Given the description of an element on the screen output the (x, y) to click on. 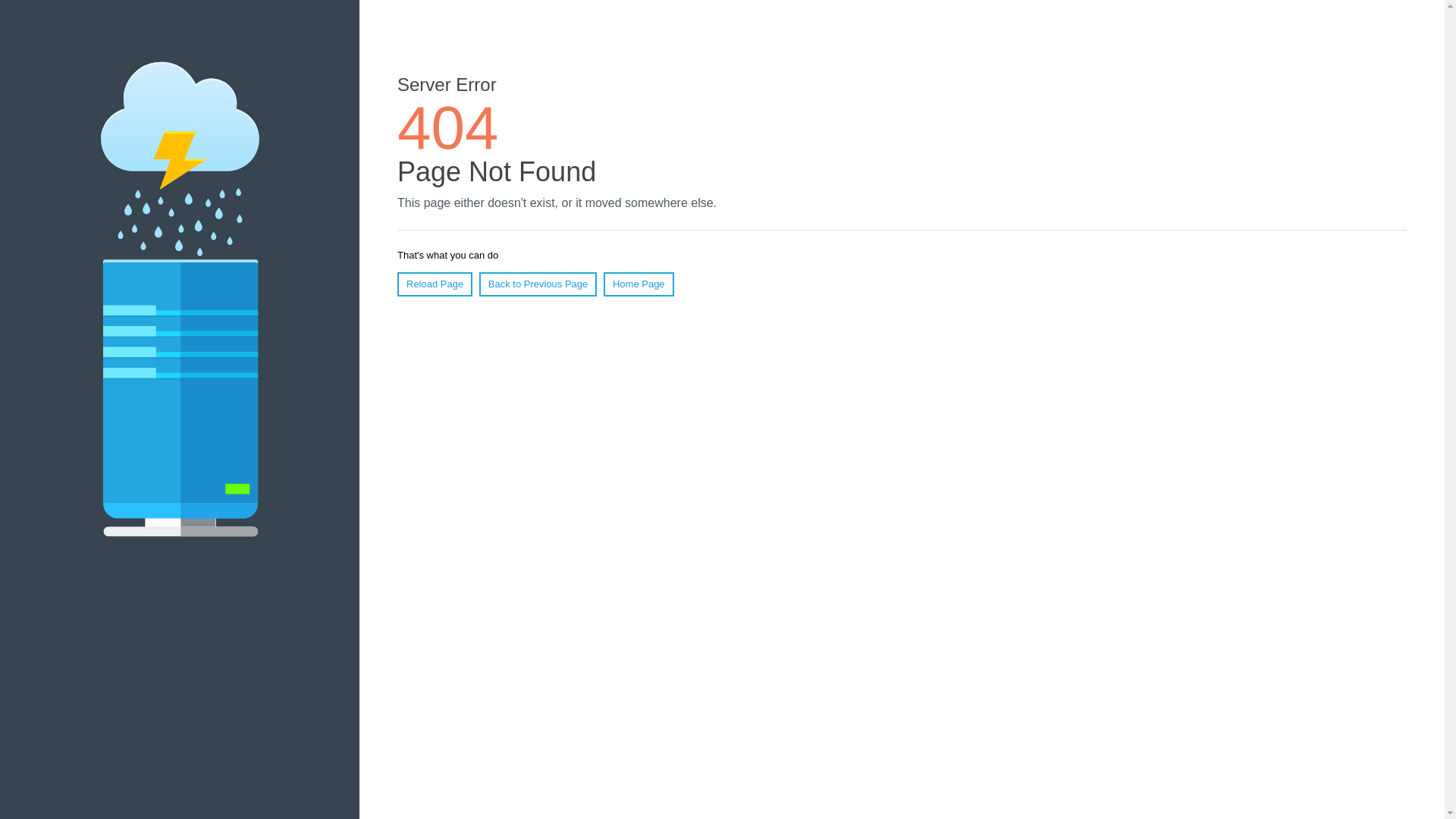
Back to Previous Page Element type: text (538, 284)
Reload Page Element type: text (434, 284)
Home Page Element type: text (638, 284)
